Given the description of an element on the screen output the (x, y) to click on. 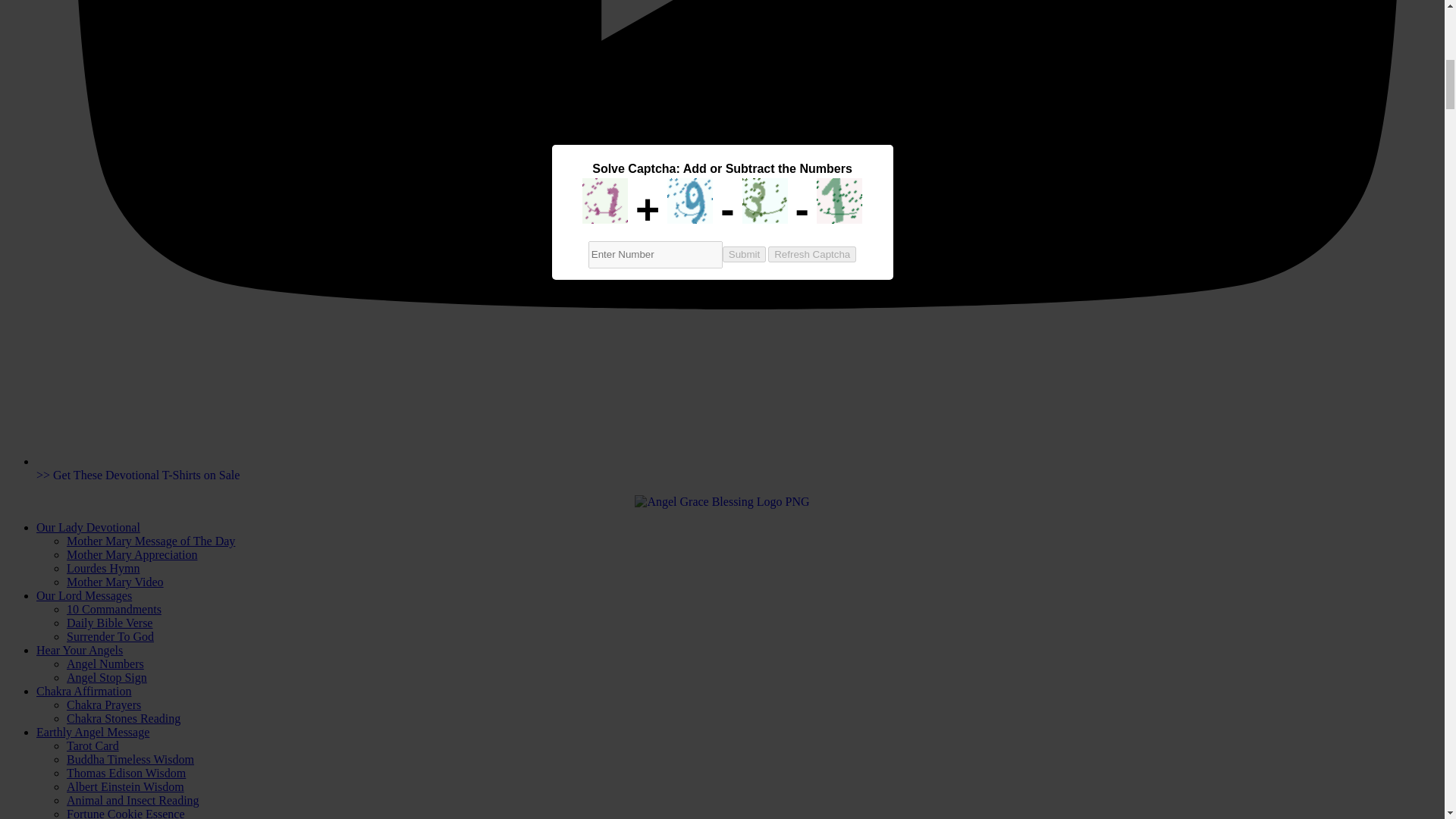
Surrender To God (110, 635)
Buddha Timeless Wisdom (129, 758)
Hear Your Angels (79, 649)
Animal and Insect Reading (132, 799)
Chakra Stones Reading (123, 717)
Tarot Card (92, 745)
Daily Bible Verse (109, 622)
cropped-agb-logo-skyblue.png (721, 501)
Albert Einstein Wisdom (125, 786)
Mother Mary Message of The Day (150, 540)
Chakra Prayers (103, 704)
Our Lord Messages (84, 594)
Chakra Affirmation (83, 690)
Thomas Edison Wisdom (126, 772)
Lourdes Hymn (102, 567)
